Given the description of an element on the screen output the (x, y) to click on. 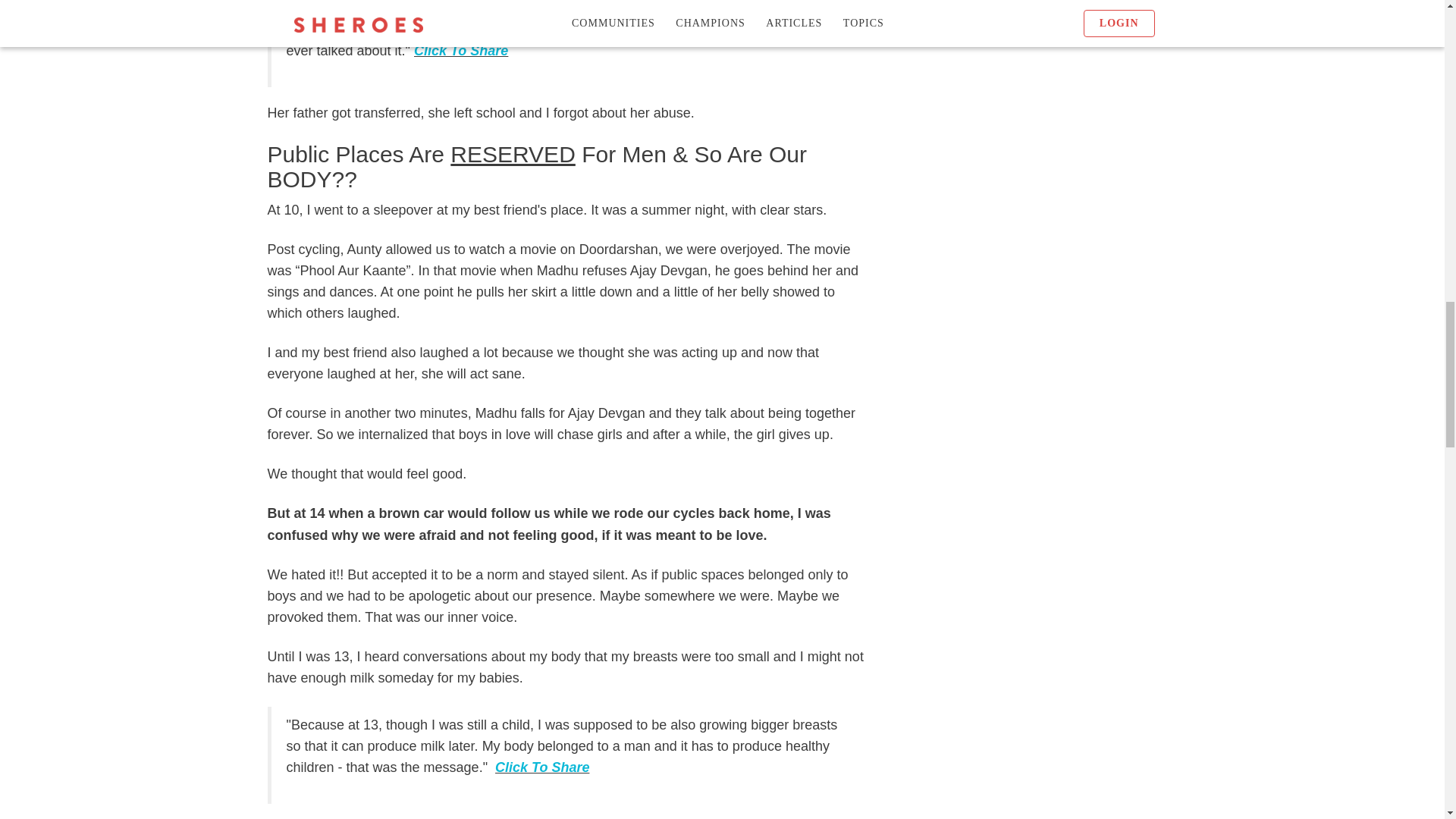
Click To Share (542, 767)
Click To Share (460, 50)
